Given the description of an element on the screen output the (x, y) to click on. 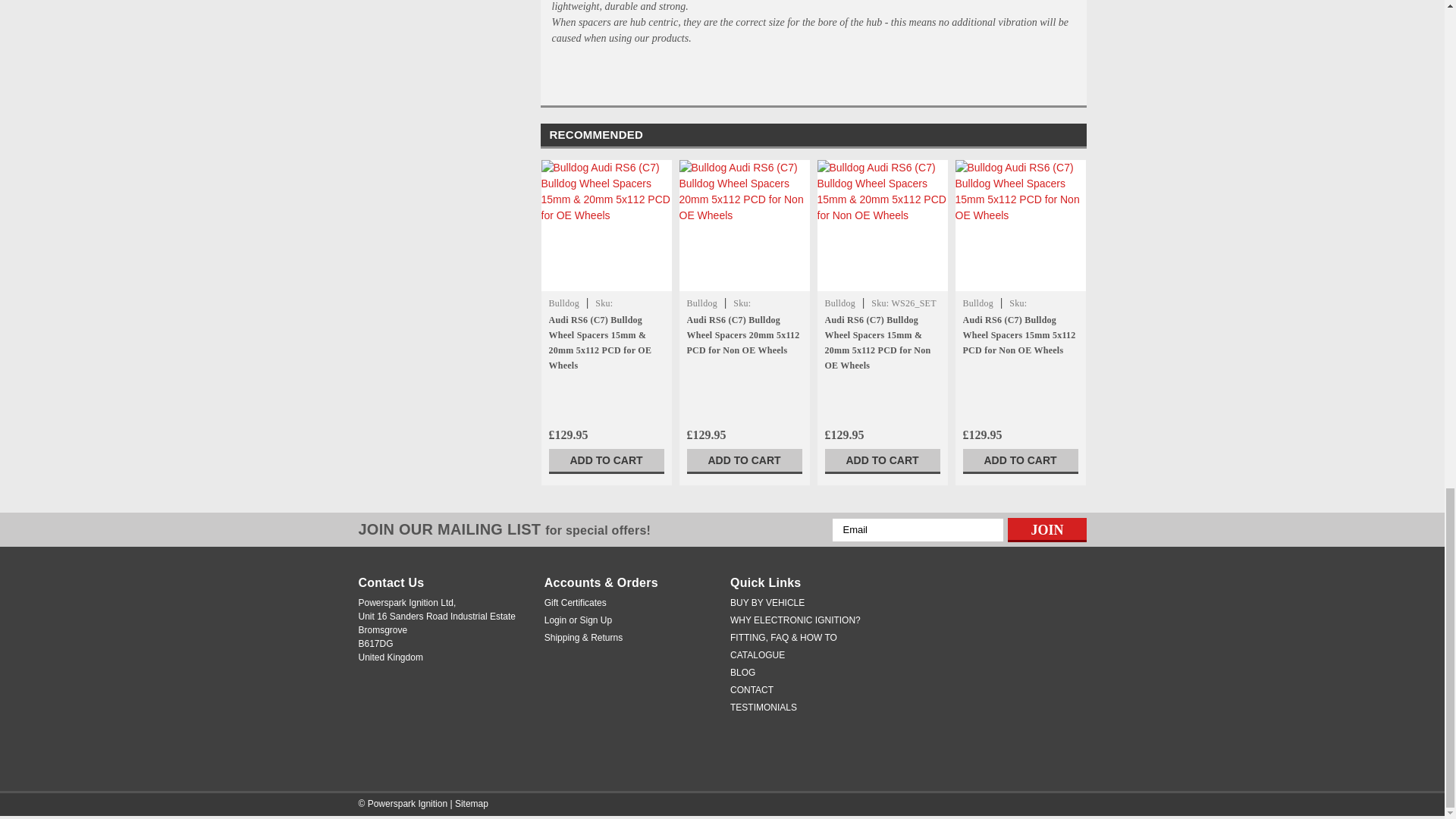
Join (1046, 529)
